Given the description of an element on the screen output the (x, y) to click on. 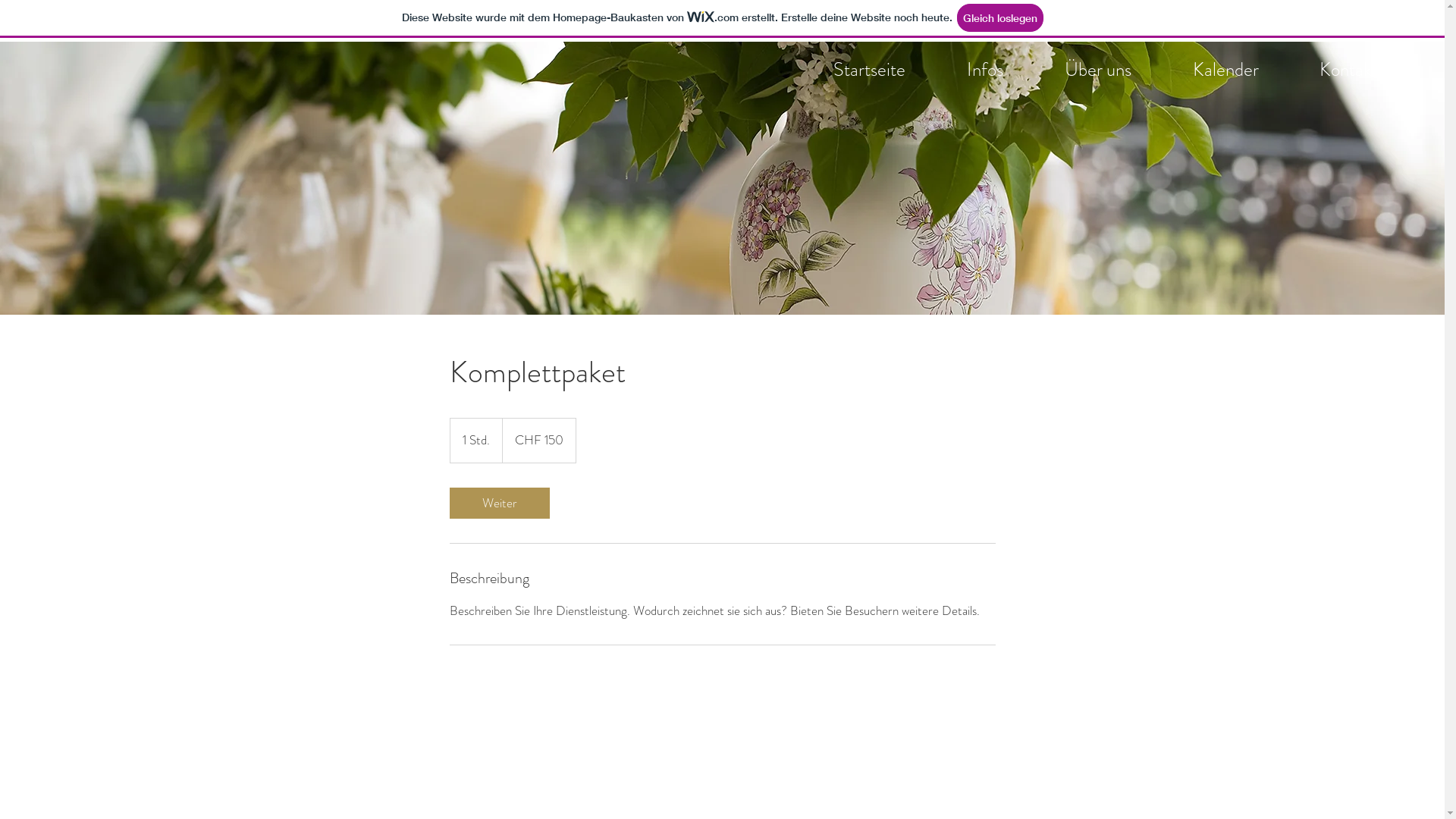
Startseite Element type: text (868, 68)
Infos Element type: text (984, 68)
Kalender Element type: text (1225, 68)
Kontakt Element type: text (1348, 68)
Weiter Element type: text (498, 501)
